Given the description of an element on the screen output the (x, y) to click on. 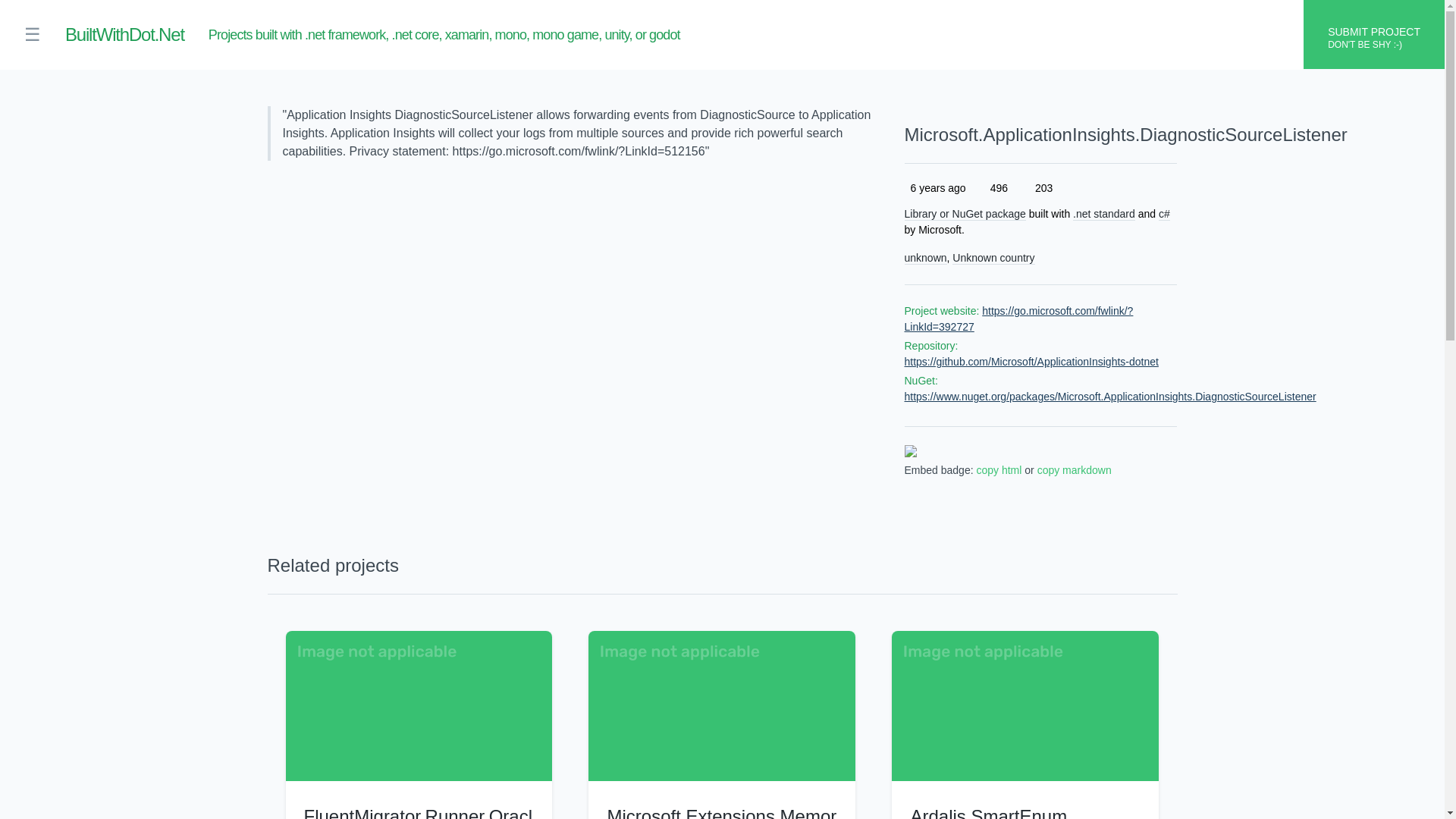
Microsoft.Extensions.MemoryPool (721, 812)
BuiltWithDot.Net (124, 34)
copy html (998, 469)
Library or NuGet package (964, 214)
Unknown country (992, 257)
.net standard (1104, 214)
copy markdown (1074, 469)
FluentMigrator.Runner.Oracle (416, 812)
unknown (925, 257)
